Given the description of an element on the screen output the (x, y) to click on. 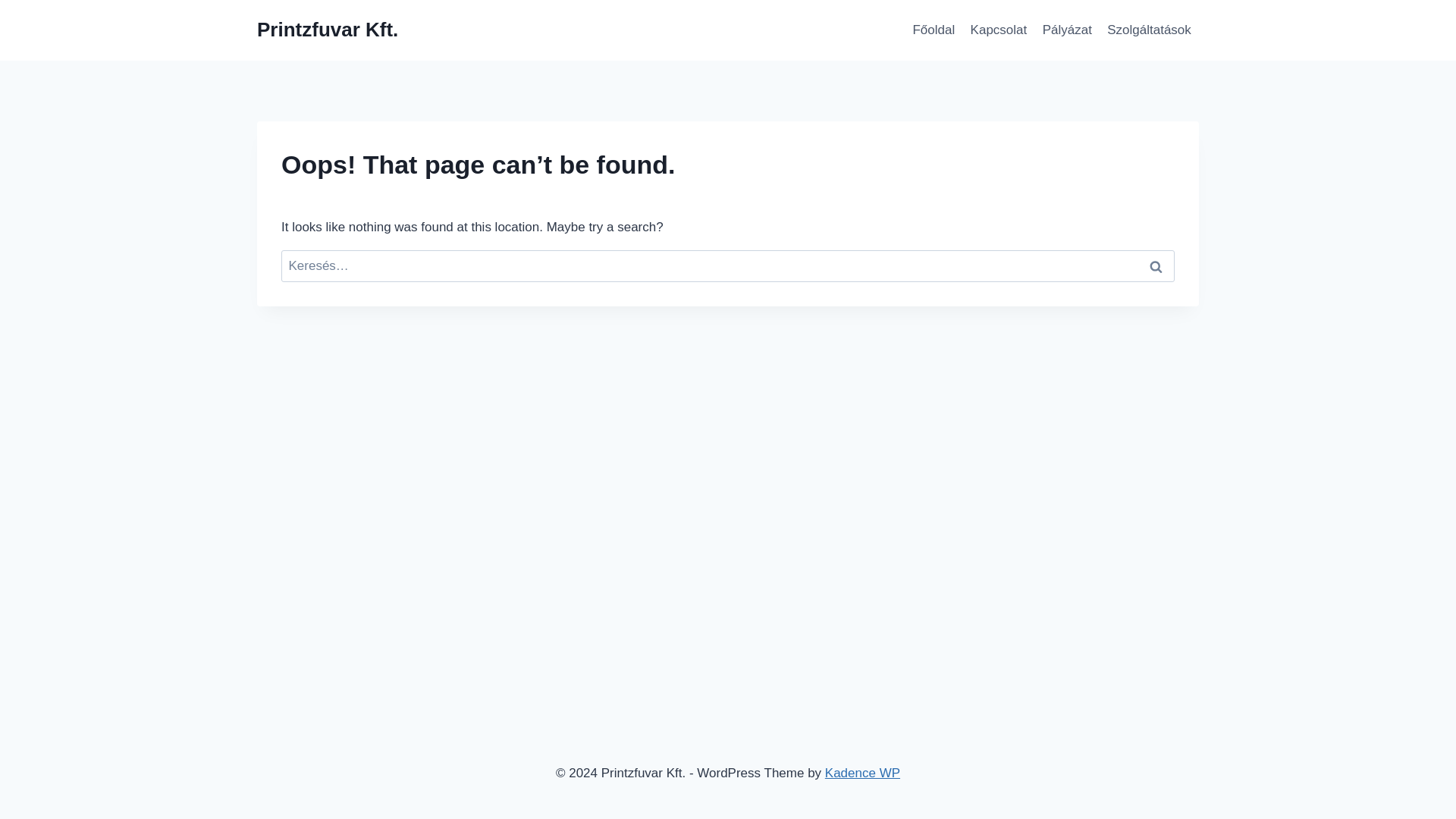
Printzfuvar Kft. (327, 29)
Kapcsolat (997, 30)
Kadence WP (862, 772)
